Given the description of an element on the screen output the (x, y) to click on. 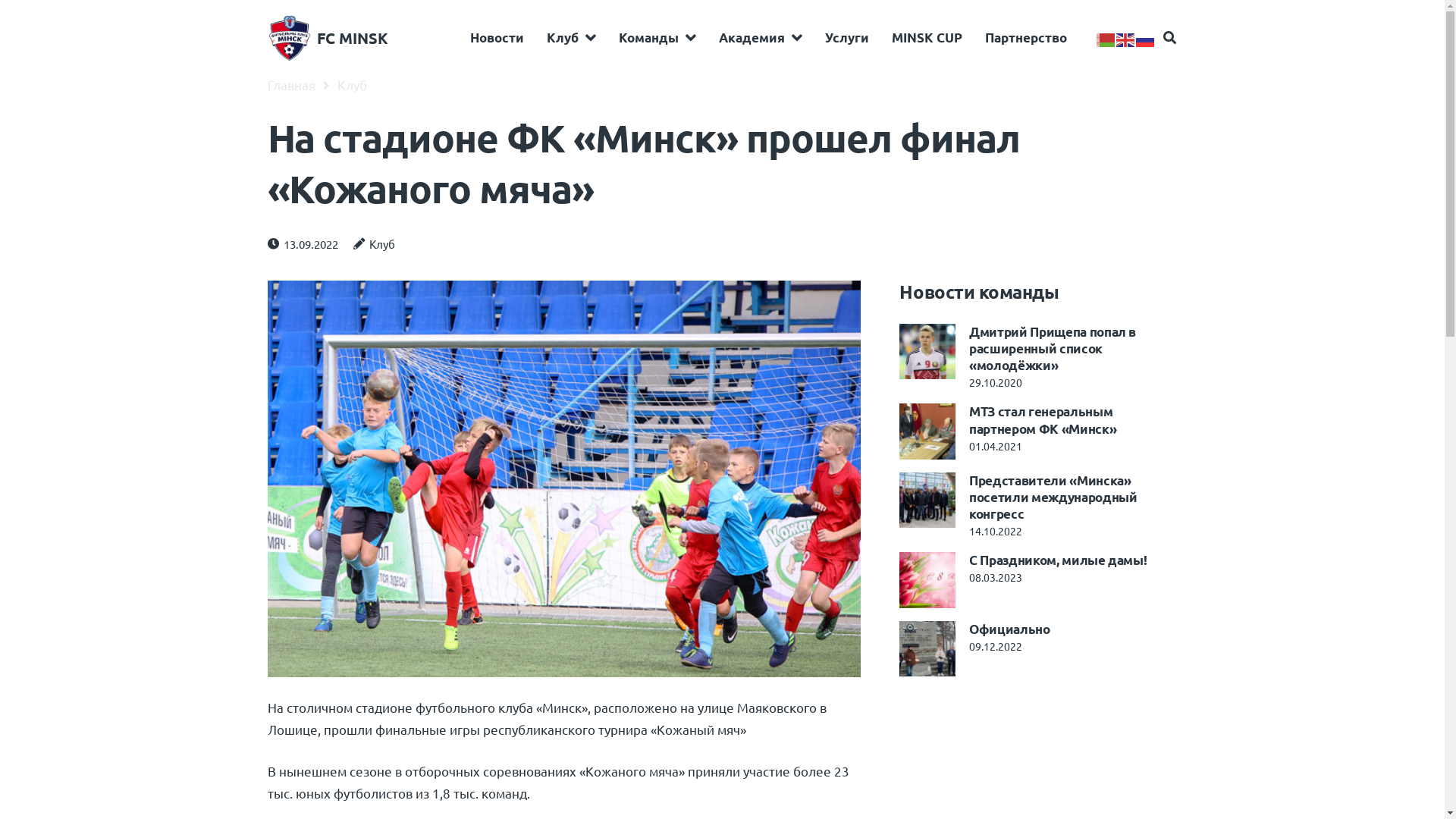
Russian Element type: hover (1145, 37)
MINSK CUP Element type: text (926, 37)
FC MINSK Element type: text (352, 37)
Belarusian Element type: hover (1106, 37)
English Element type: hover (1125, 37)
